Given the description of an element on the screen output the (x, y) to click on. 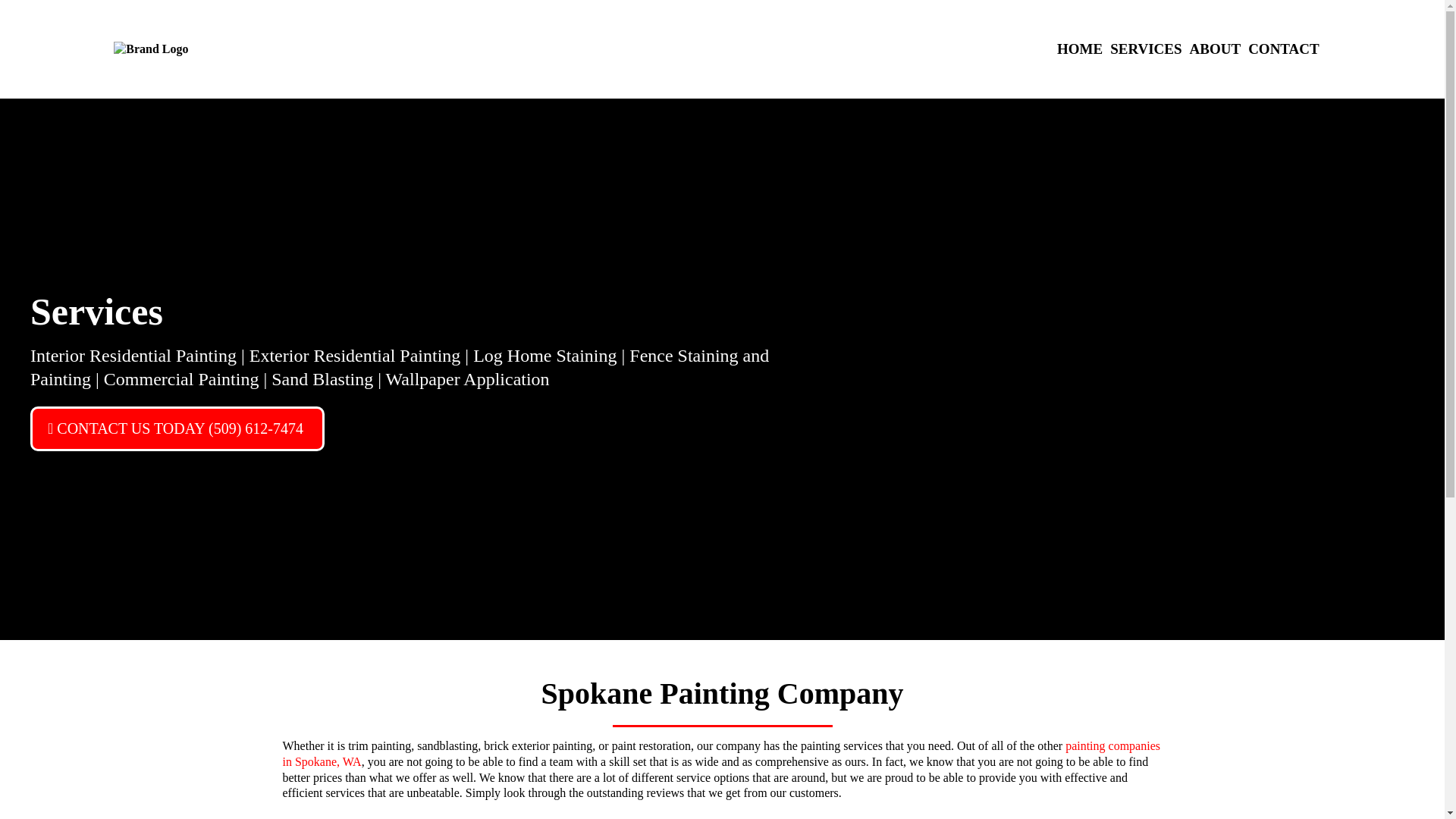
SERVICES (1145, 49)
HOME (1079, 49)
painting companies in Spokane, WA (720, 753)
CONTACT (1283, 49)
ABOUT (1215, 49)
